Given the description of an element on the screen output the (x, y) to click on. 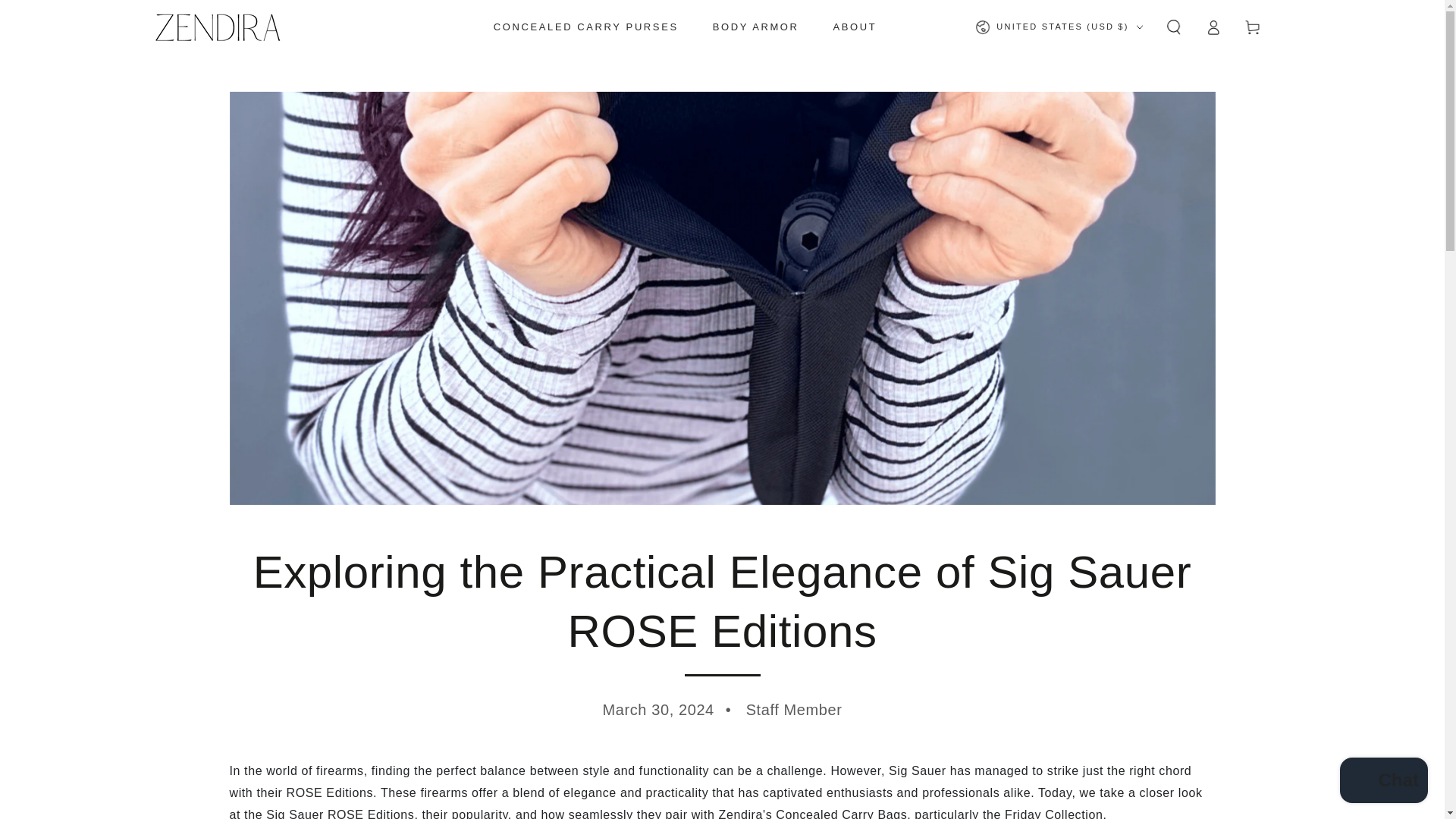
Shopify online store chat (1383, 781)
SKIP TO CONTENT (67, 14)
